Given the description of an element on the screen output the (x, y) to click on. 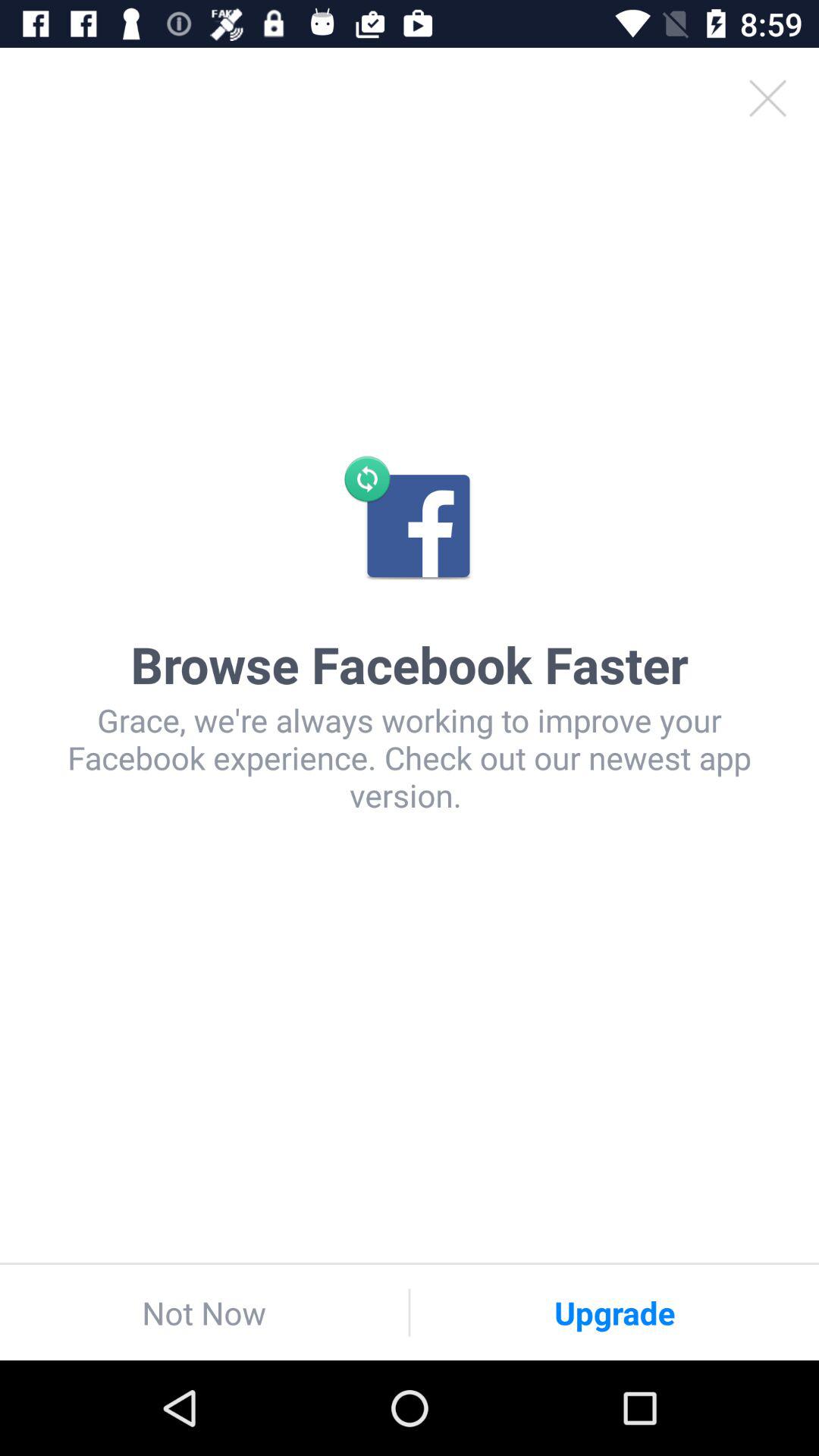
swipe to the upgrade (614, 1312)
